Given the description of an element on the screen output the (x, y) to click on. 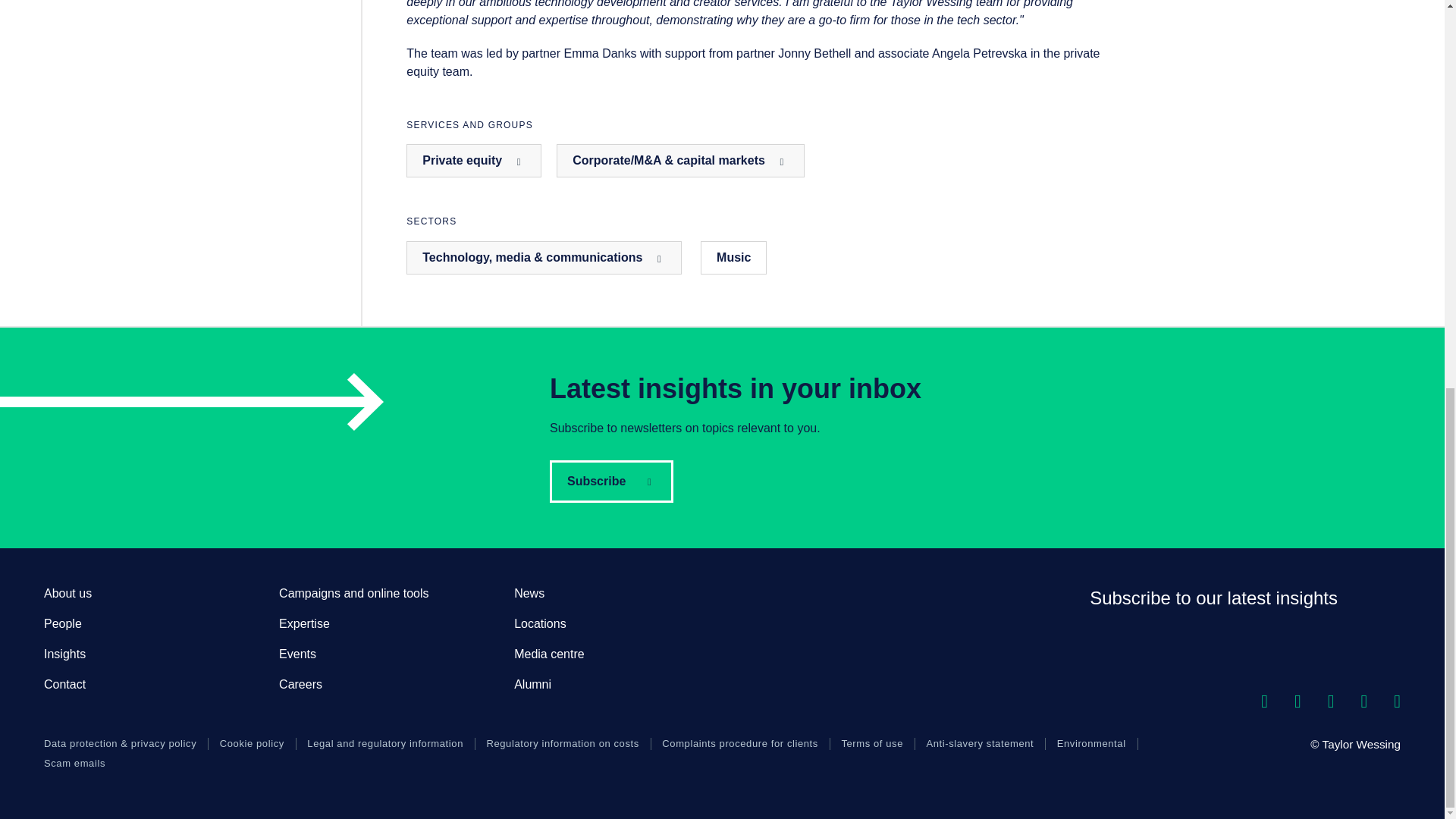
Technology. media and communications (543, 257)
Subscribe (611, 481)
Private equity (473, 160)
